Given the description of an element on the screen output the (x, y) to click on. 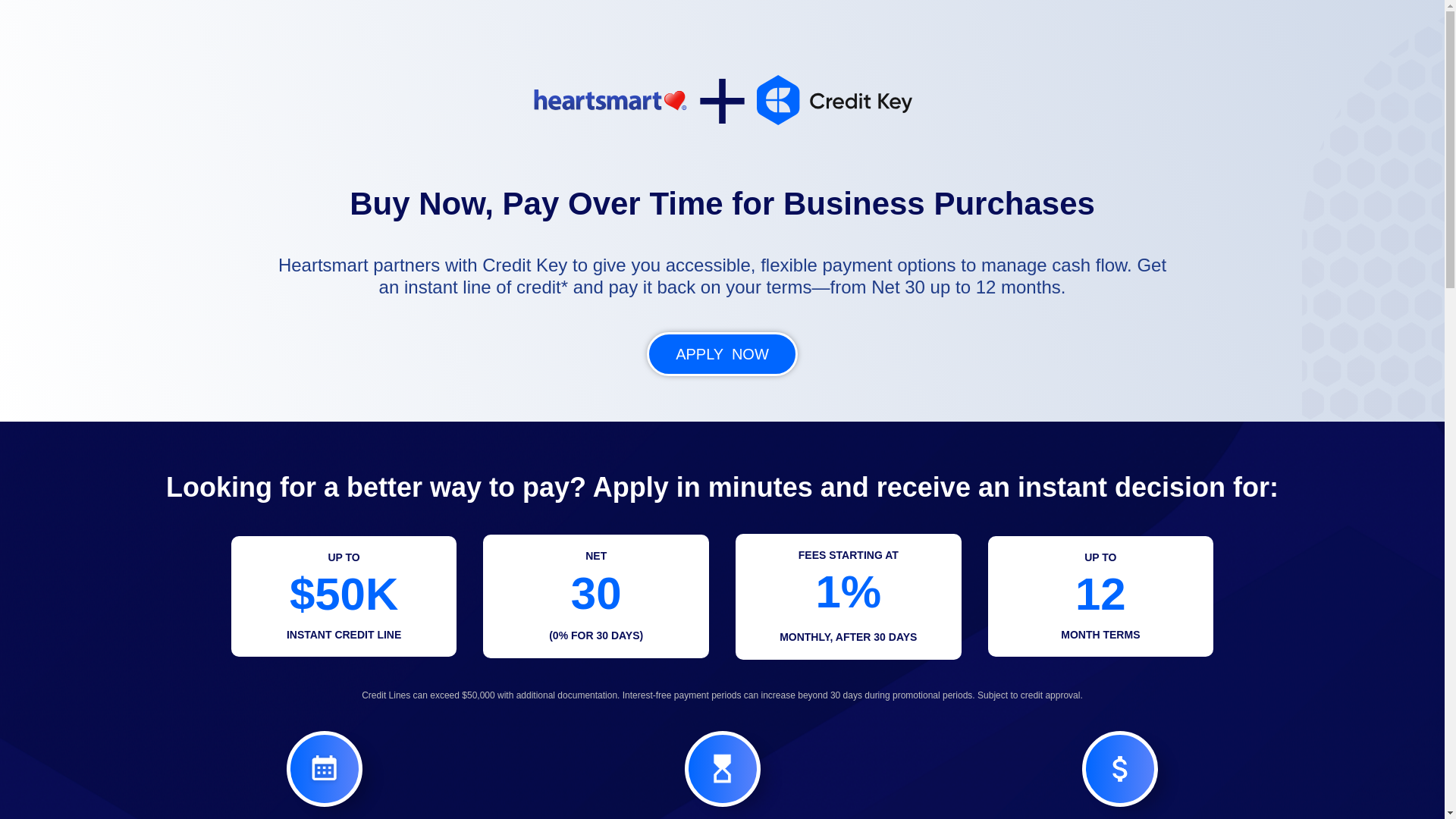
APPLY  NOW (721, 353)
